Given the description of an element on the screen output the (x, y) to click on. 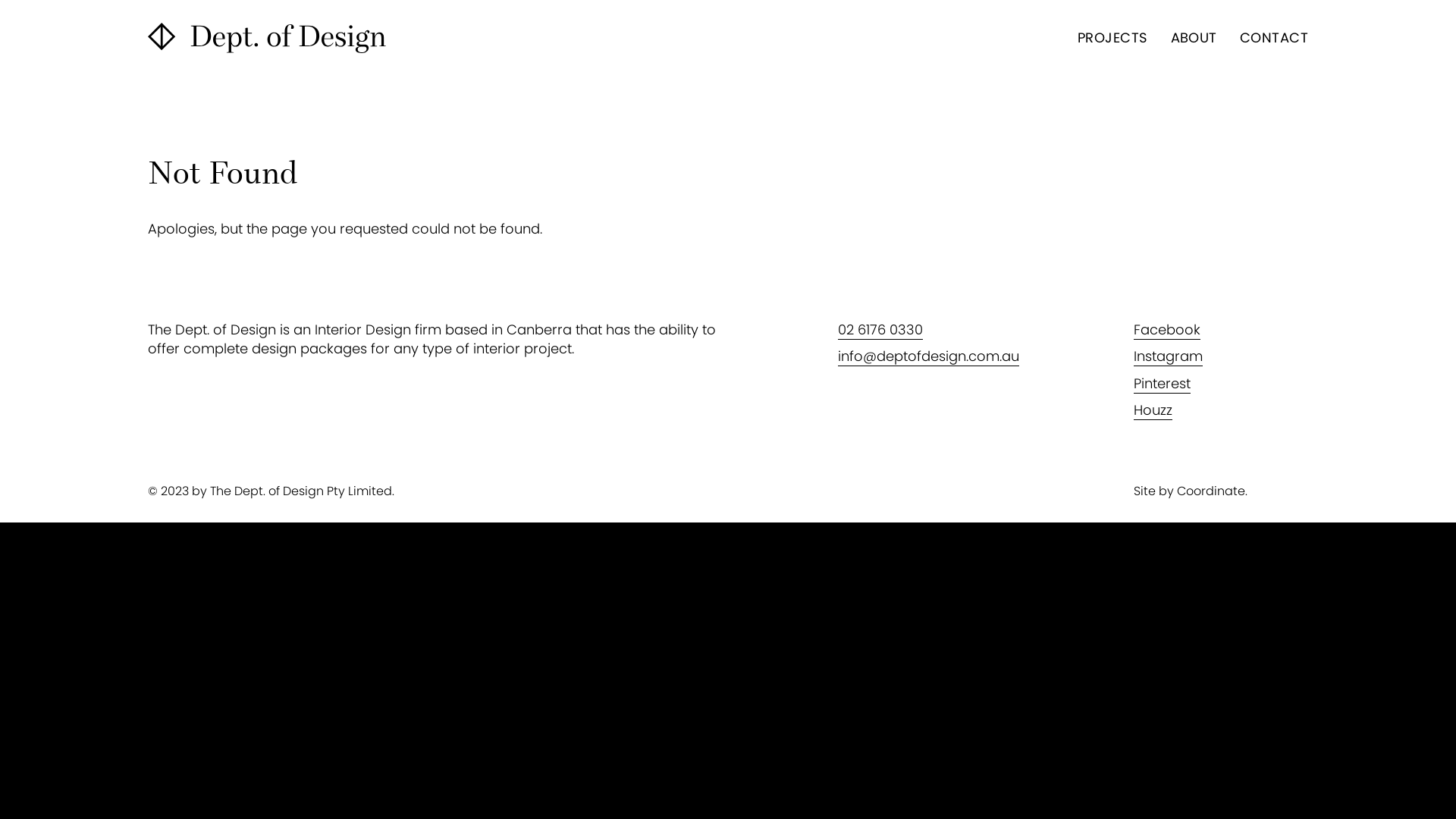
Pinterest Element type: text (1161, 382)
info@deptofdesign.com.au Element type: text (928, 355)
ABOUT Element type: text (1193, 37)
Facebook Element type: text (1166, 329)
02 6176 0330 Element type: text (879, 329)
PROJECTS Element type: text (1112, 37)
CONTACT Element type: text (1273, 37)
The Dept. of Design Element type: hover (266, 37)
Houzz Element type: text (1152, 409)
Coordinate Element type: text (1210, 490)
Instagram Element type: text (1167, 355)
